Given the description of an element on the screen output the (x, y) to click on. 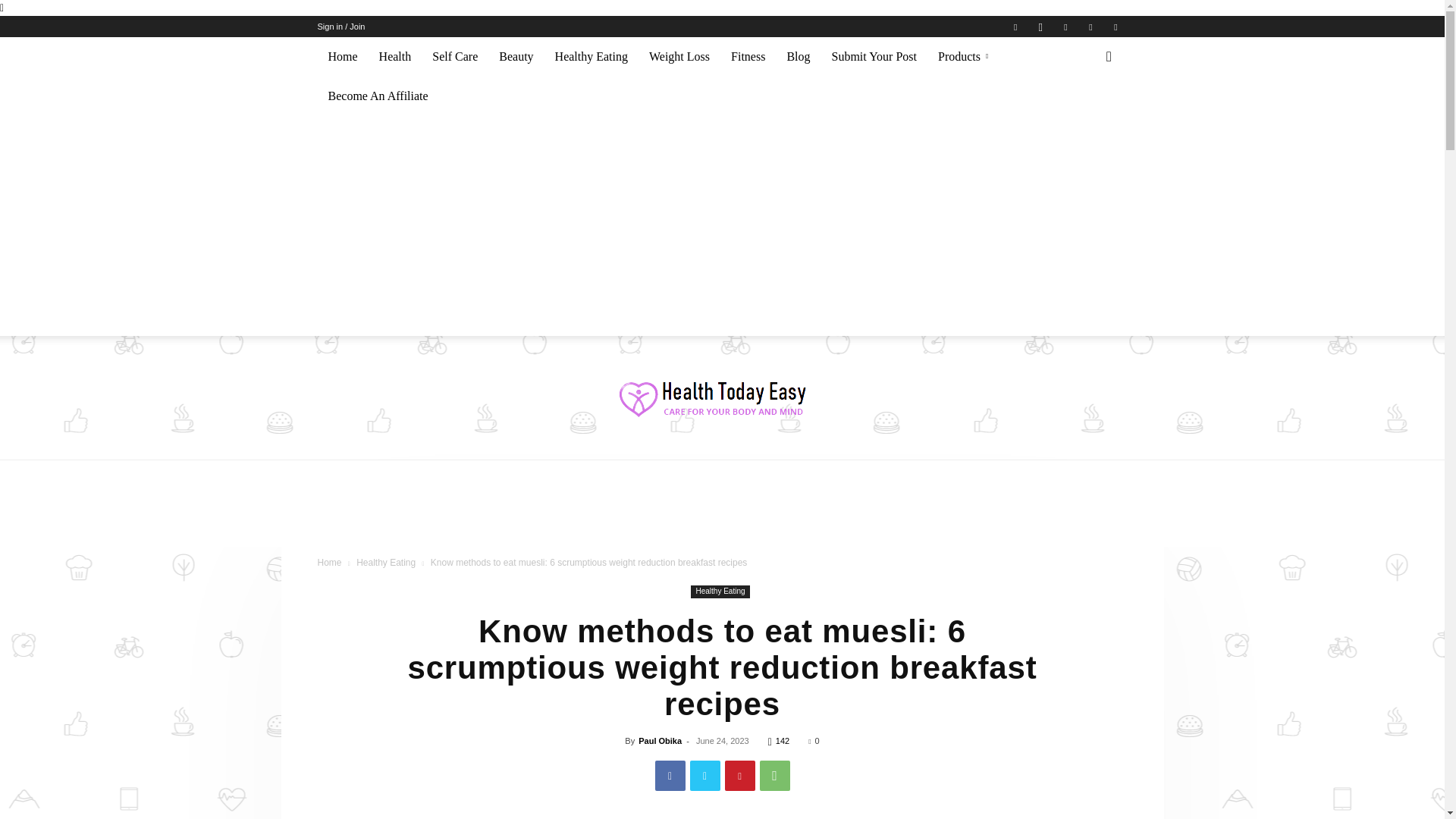
Beauty (515, 56)
Advertisement (721, 512)
Twitter (1065, 25)
Self Care (454, 56)
Instagram (1040, 25)
Weight Loss (679, 56)
Health (395, 56)
Home (342, 56)
Vimeo (1090, 25)
Facebook (1015, 25)
Youtube (1114, 25)
Healthy Eating (591, 56)
Fitness (748, 56)
